Given the description of an element on the screen output the (x, y) to click on. 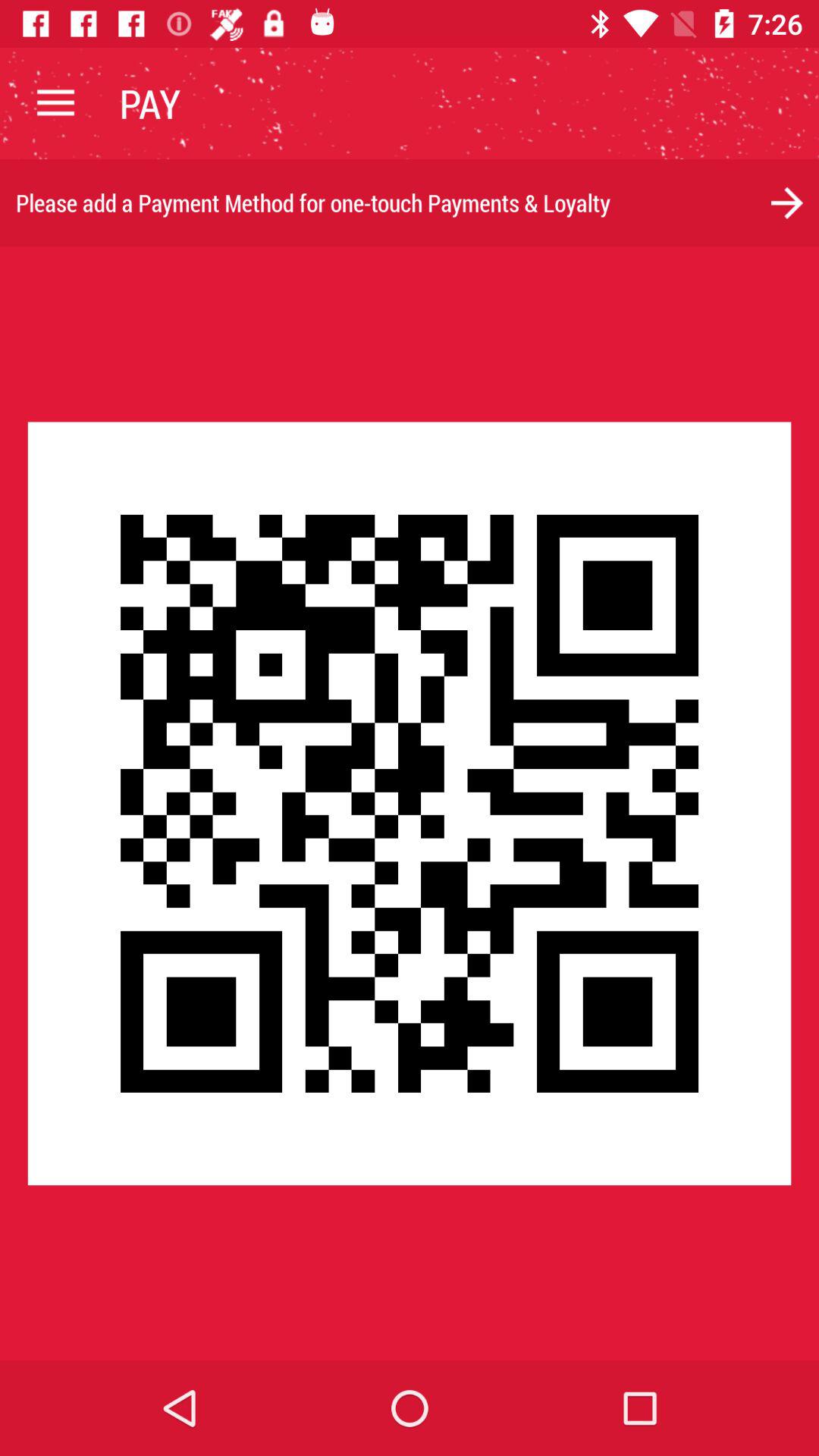
press the item to the left of pay item (55, 103)
